Given the description of an element on the screen output the (x, y) to click on. 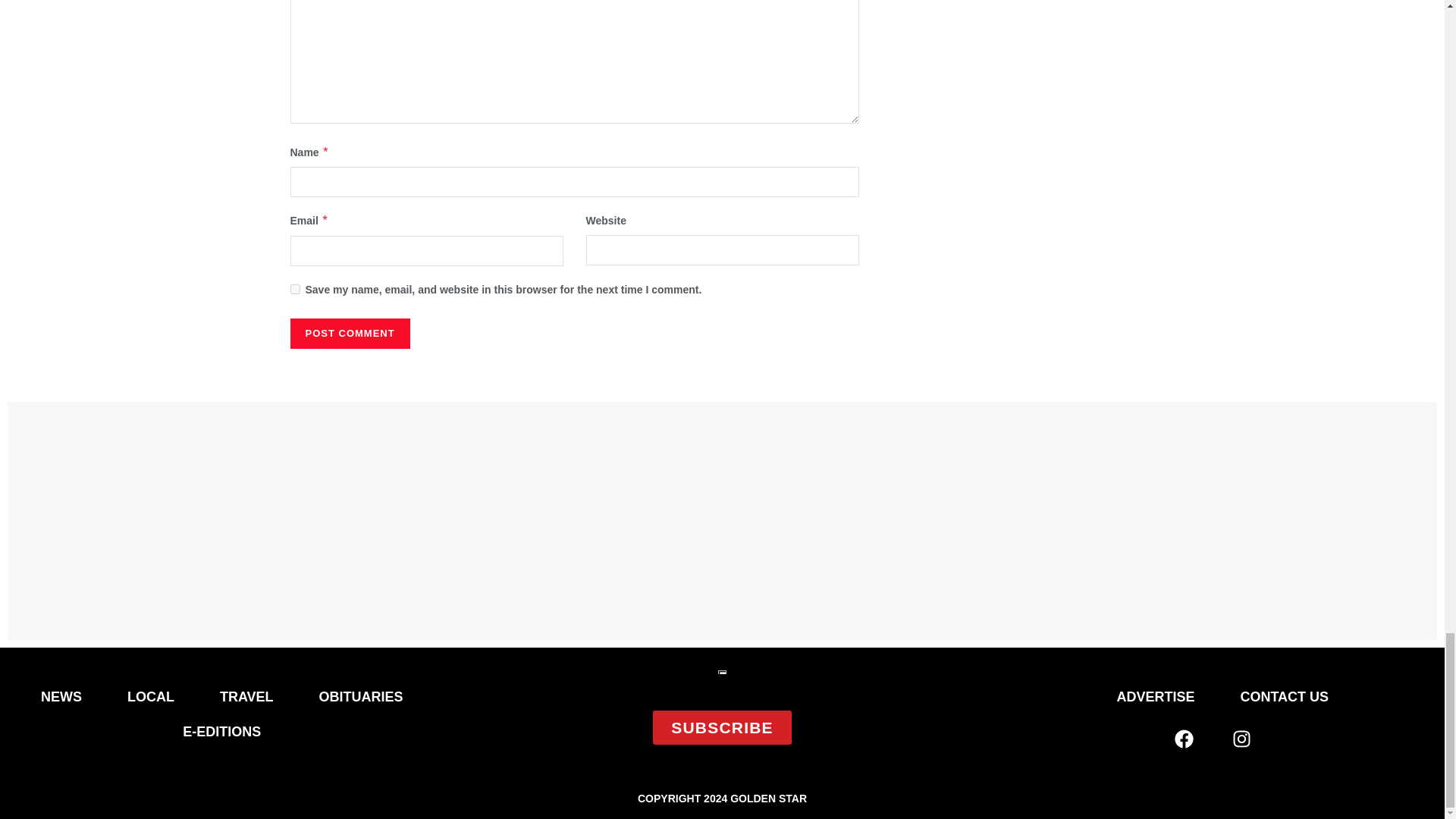
Post Comment (349, 333)
yes (294, 289)
